Given the description of an element on the screen output the (x, y) to click on. 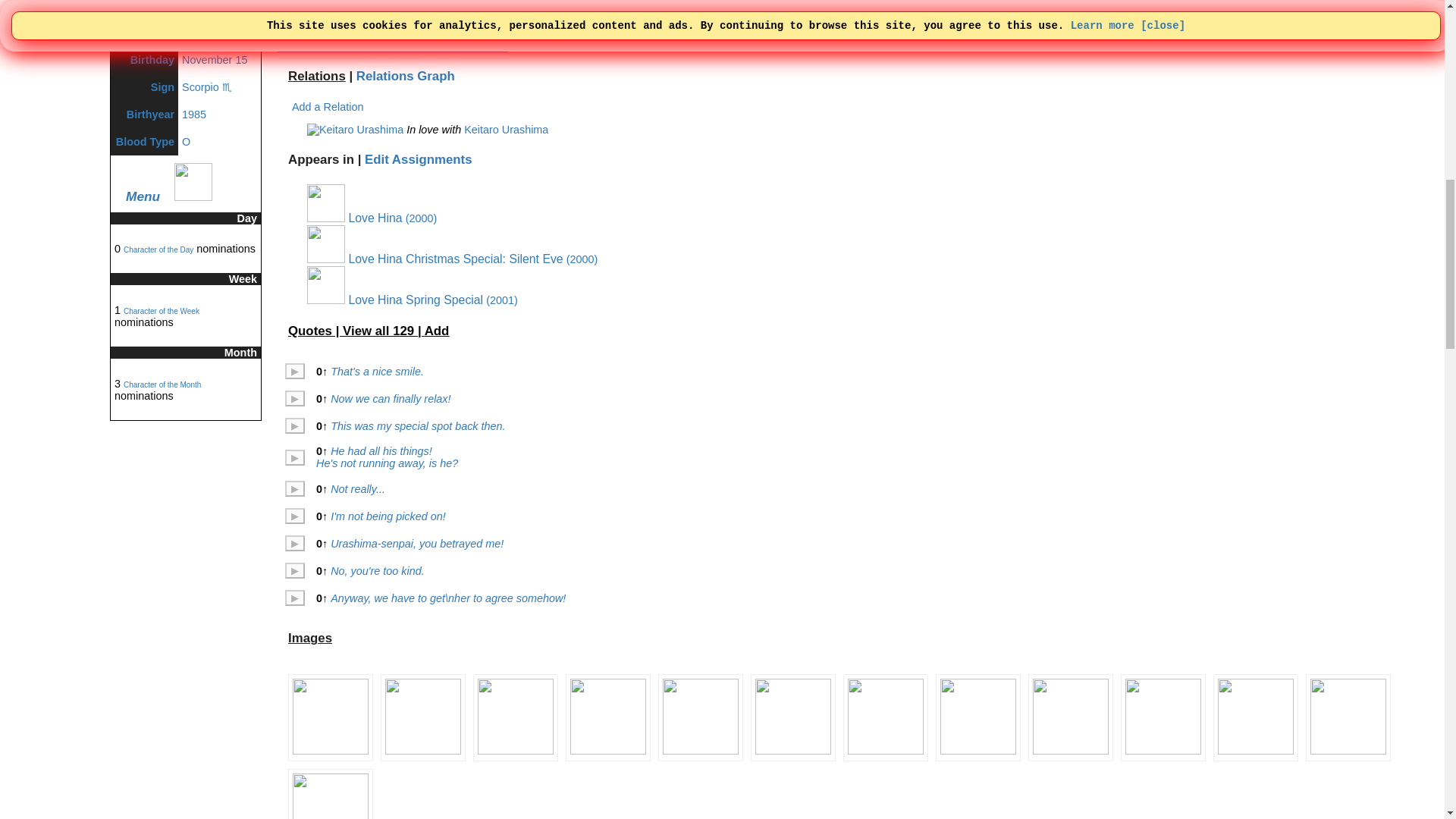
Birthyear (150, 114)
Sign (162, 87)
November 15 (214, 60)
Birthday (152, 60)
skirt (230, 17)
hoodie (198, 17)
